Given the description of an element on the screen output the (x, y) to click on. 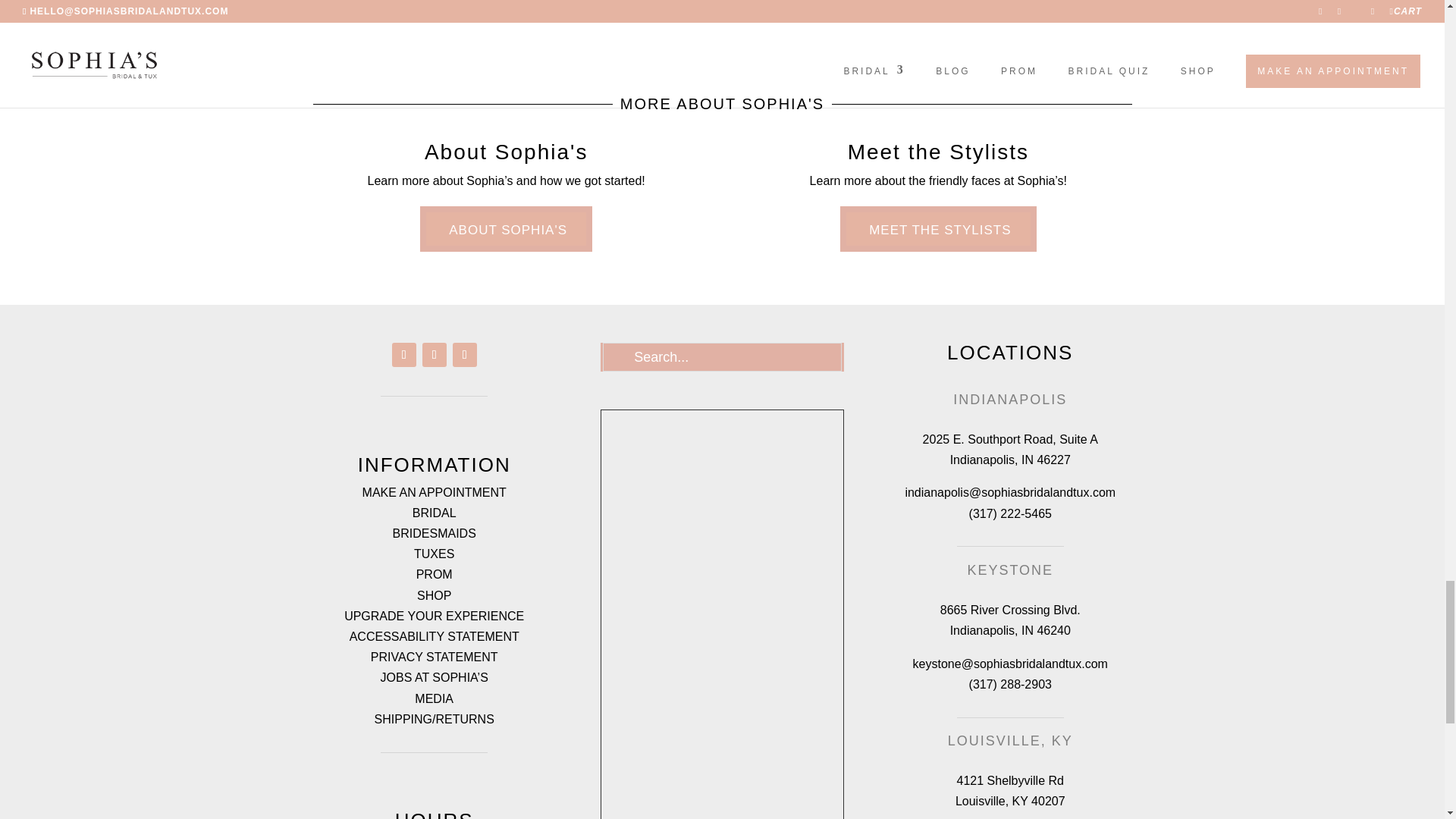
Follow on Pinterest (464, 354)
Follow on Facebook (403, 354)
curved-text (1047, 18)
Follow on Instagram (434, 354)
